Given the description of an element on the screen output the (x, y) to click on. 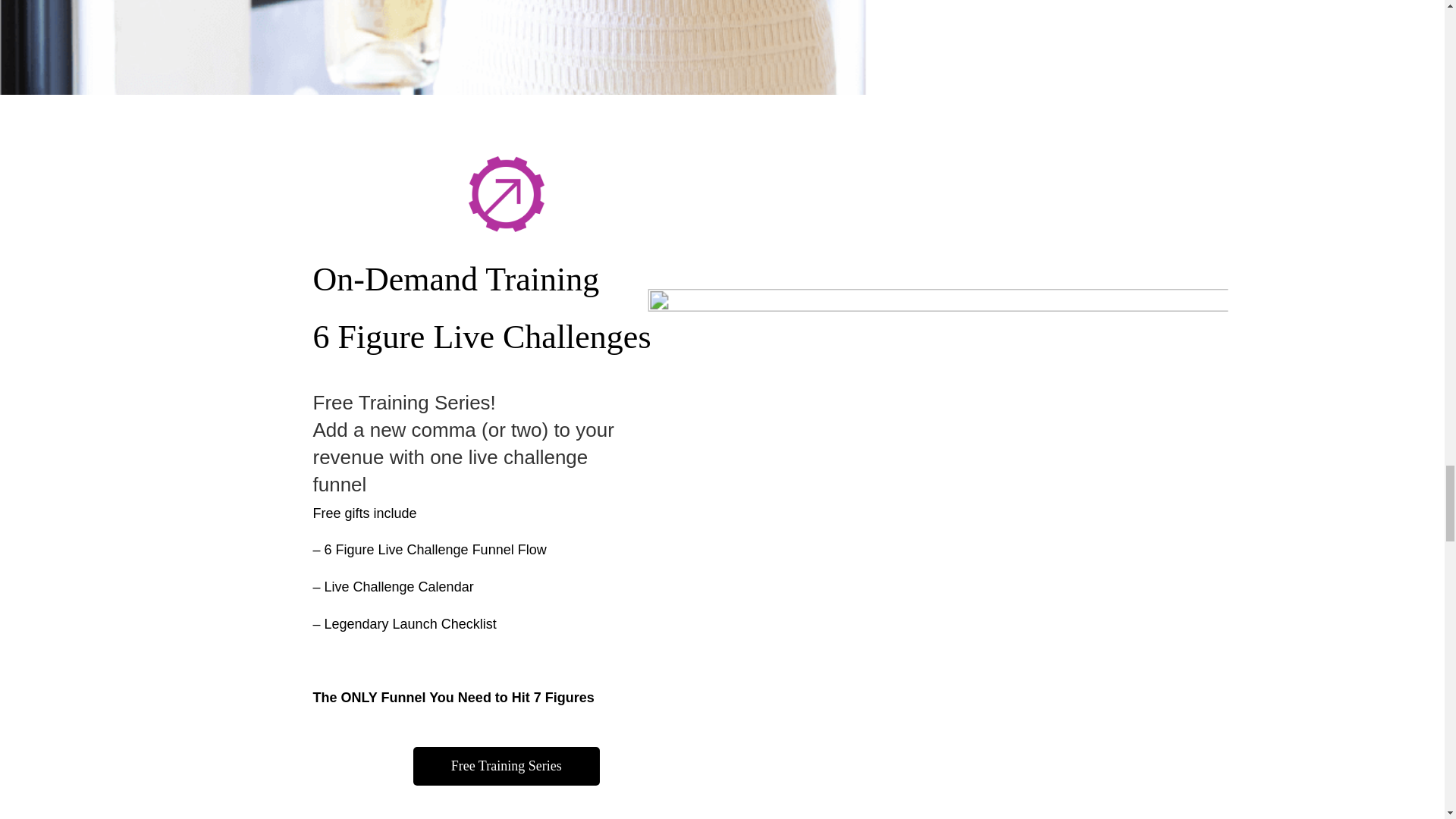
Free Training Series (506, 765)
gear icon - Melissa Ricker (506, 193)
